Given the description of an element on the screen output the (x, y) to click on. 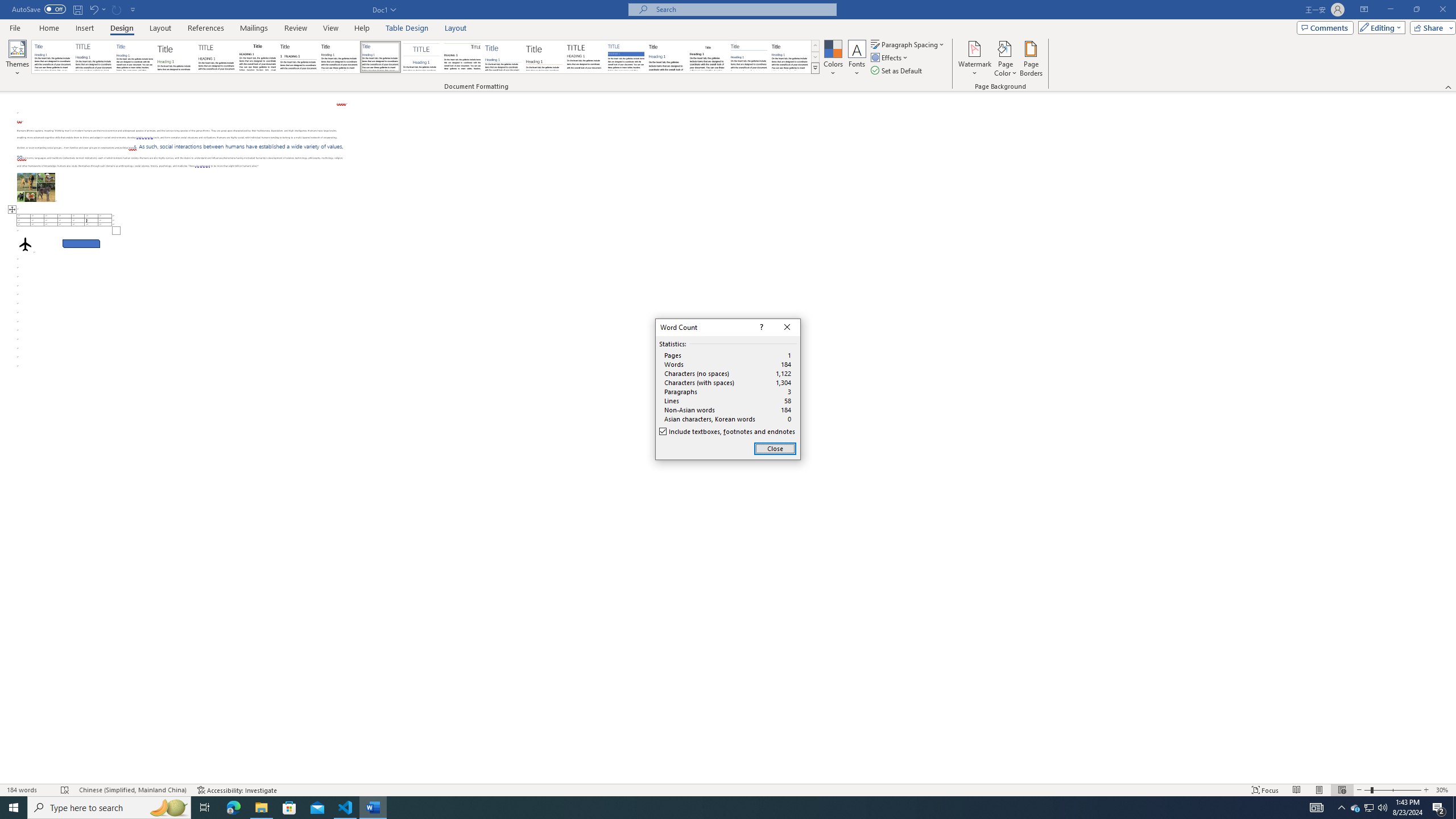
Focus  (1265, 790)
Notification Chevron (1341, 807)
Casual (379, 56)
Accessibility Checker Accessibility: Investigate (237, 790)
Minimize (1390, 9)
Word 2013 (790, 56)
Search highlights icon opens search home window (167, 807)
Class: MsoCommandBar (728, 45)
Save (77, 9)
Layout (455, 28)
File Explorer - 1 running window (261, 807)
Page Color (1005, 58)
Web Layout (1342, 790)
Basic (Stylish) (175, 56)
